Given the description of an element on the screen output the (x, y) to click on. 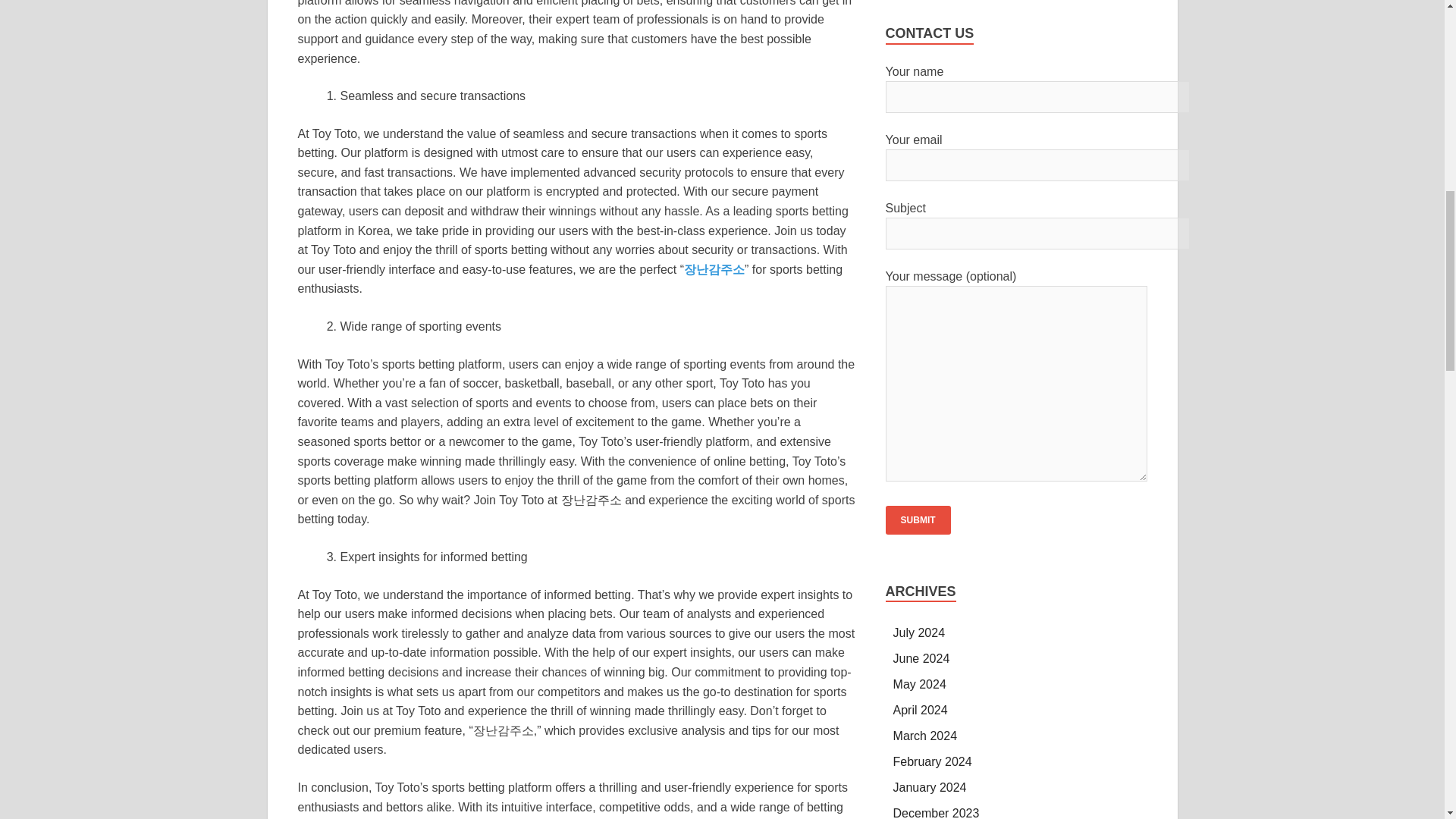
Submit (917, 520)
